Given the description of an element on the screen output the (x, y) to click on. 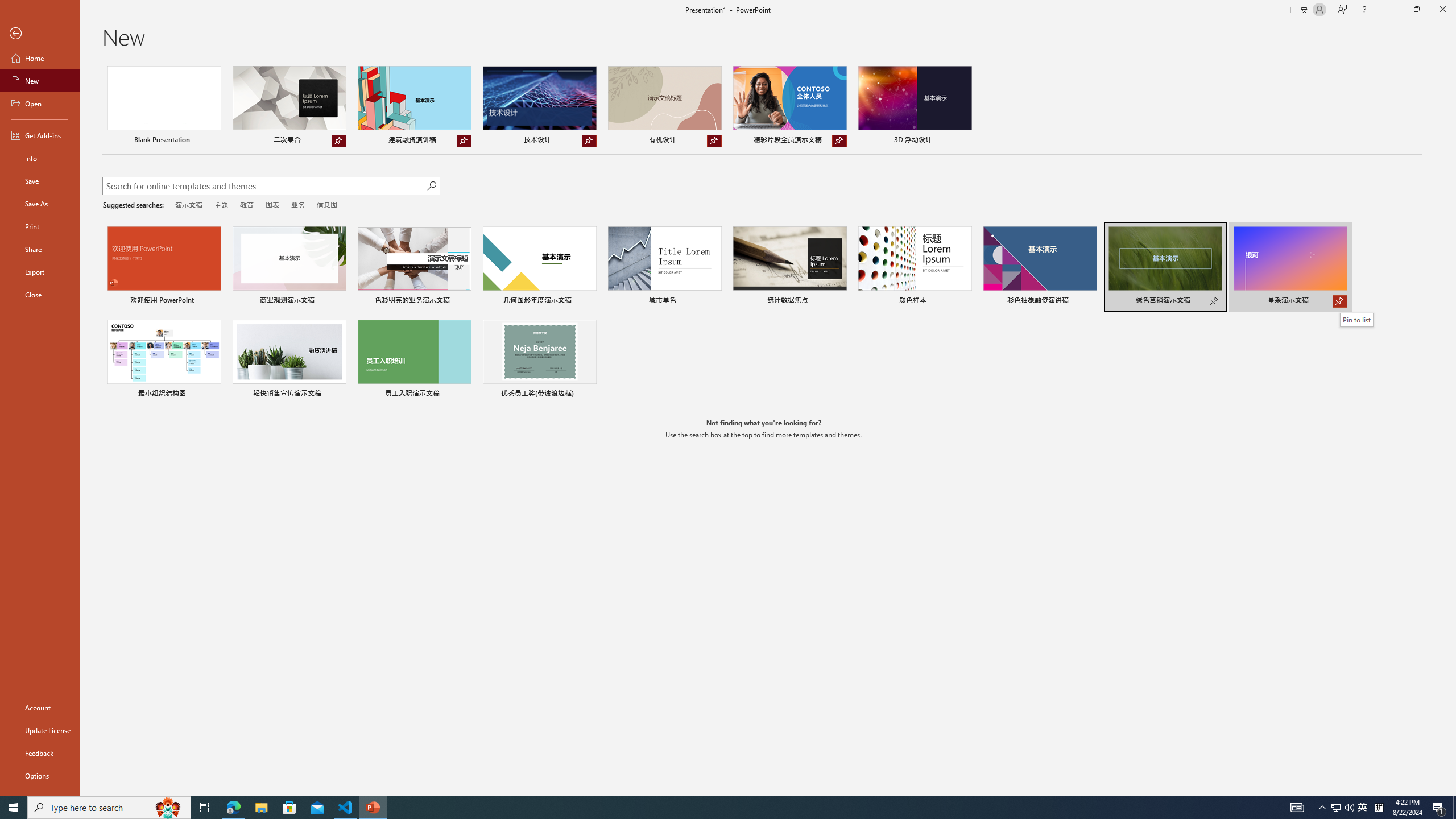
Options (40, 775)
Print (40, 225)
Search for online templates and themes (264, 187)
Class: NetUIScrollBar (1450, 428)
Unpin from list (839, 141)
